Given the description of an element on the screen output the (x, y) to click on. 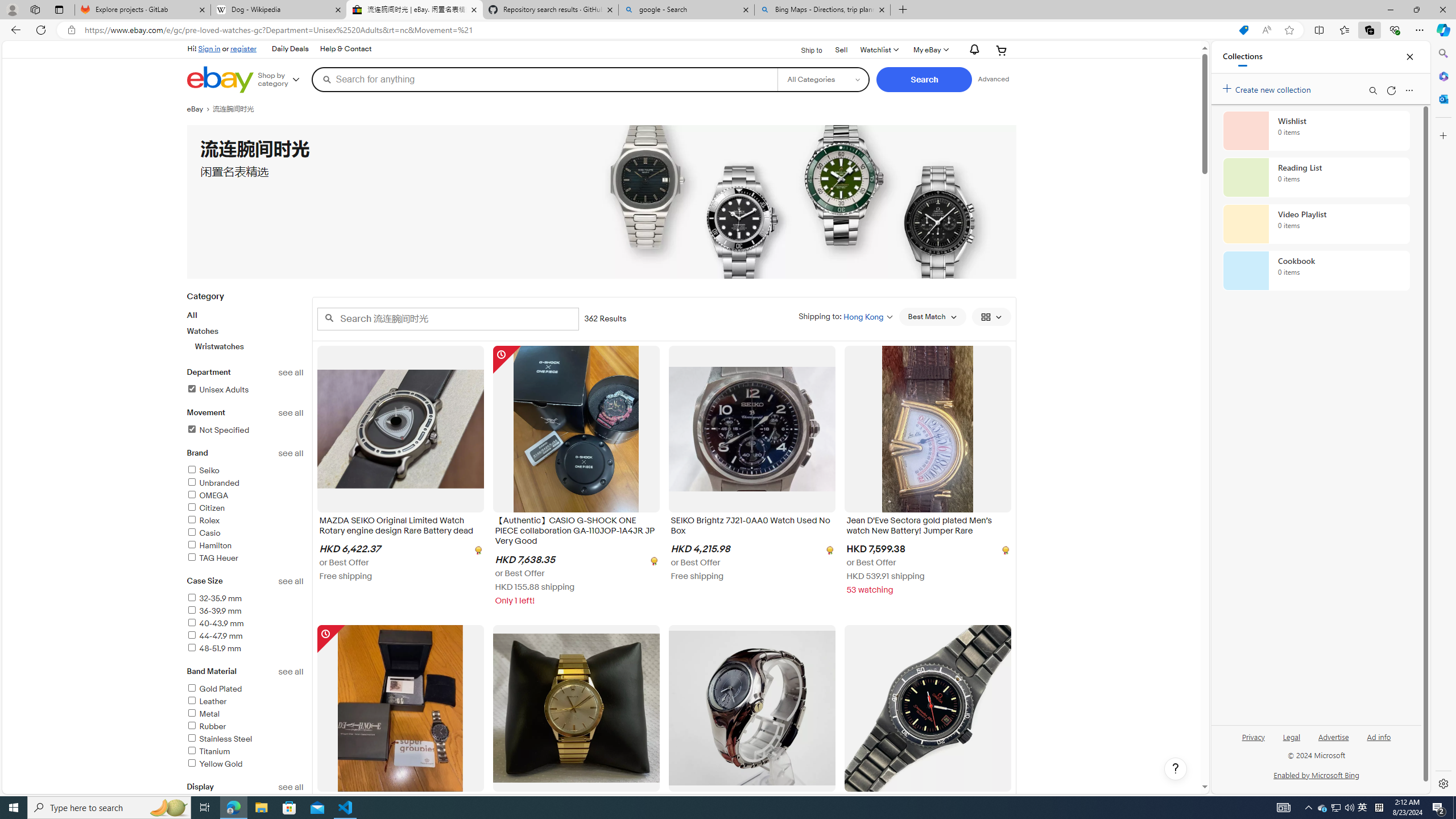
32-35.9 mm (245, 598)
Create new collection (1268, 87)
40-43.9 mm (245, 624)
Help & Contact (345, 49)
Metal (245, 714)
Gold Plated (245, 689)
